Given the description of an element on the screen output the (x, y) to click on. 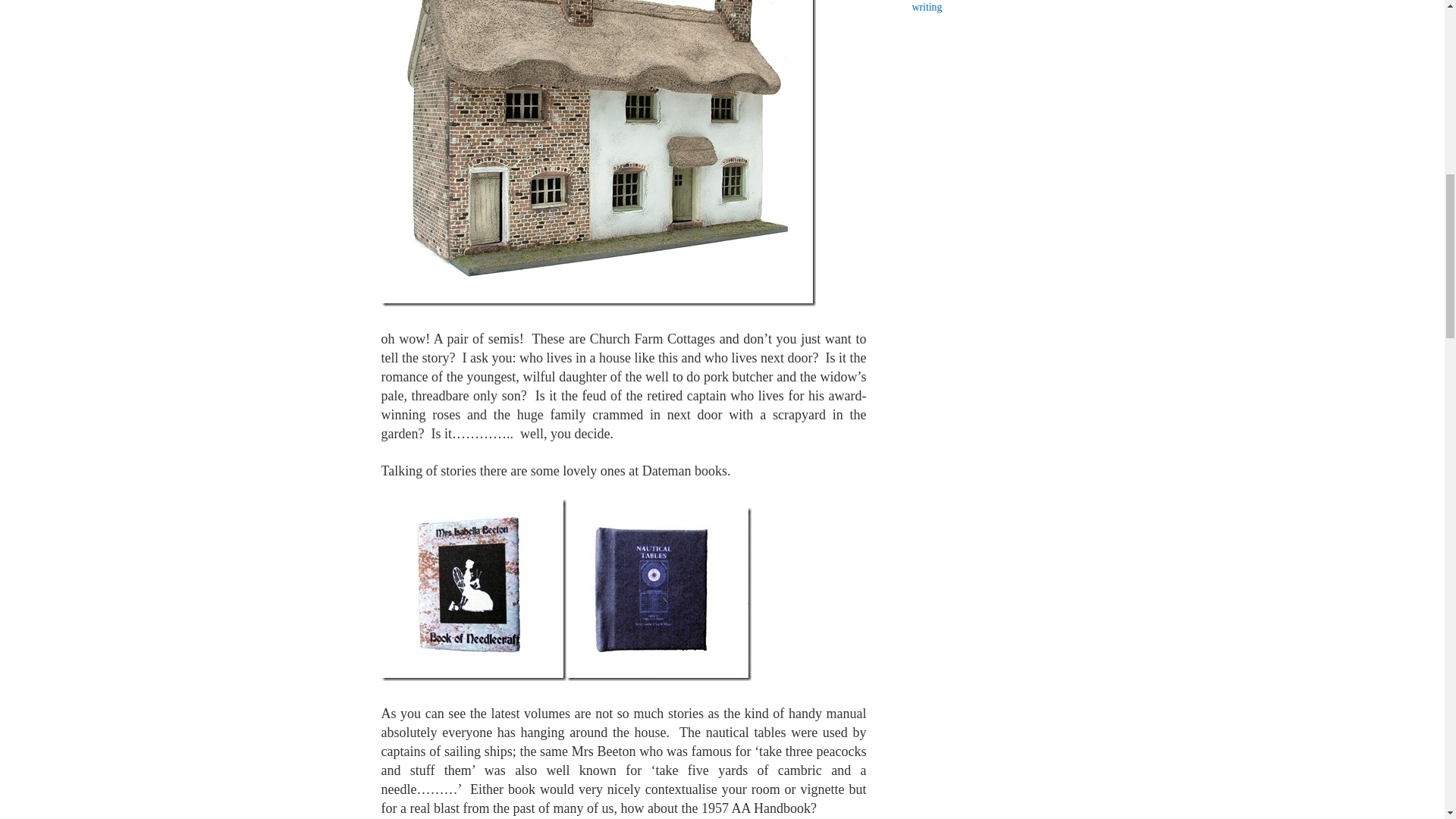
Nautical tables trans (658, 593)
Needlecraft trans (473, 589)
Church Farm Cottages (597, 153)
